Given the description of an element on the screen output the (x, y) to click on. 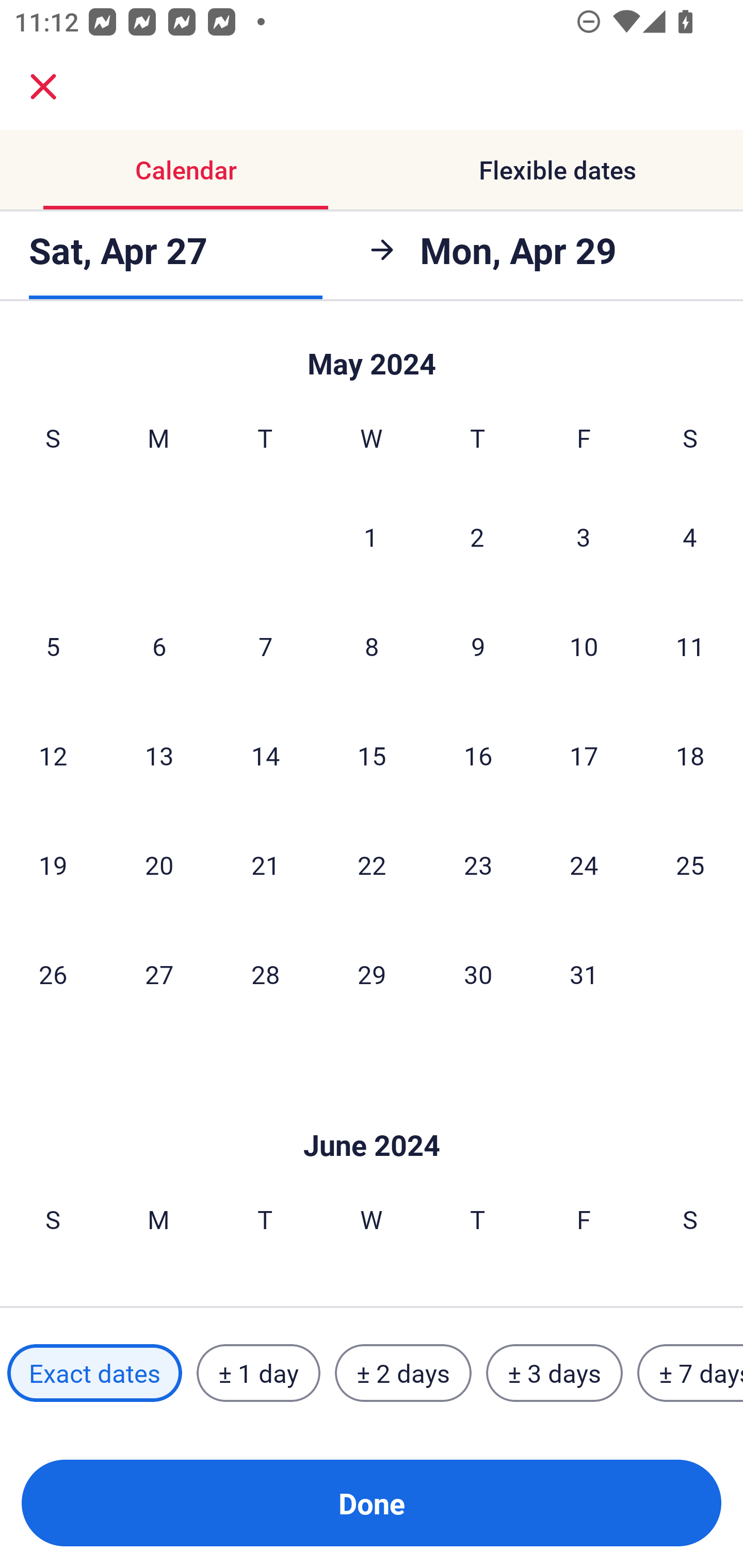
close. (43, 86)
Flexible dates (557, 170)
Skip to Done (371, 353)
1 Wednesday, May 1, 2024 (371, 536)
2 Thursday, May 2, 2024 (477, 536)
3 Friday, May 3, 2024 (583, 536)
4 Saturday, May 4, 2024 (689, 536)
5 Sunday, May 5, 2024 (53, 645)
6 Monday, May 6, 2024 (159, 645)
7 Tuesday, May 7, 2024 (265, 645)
8 Wednesday, May 8, 2024 (371, 645)
9 Thursday, May 9, 2024 (477, 645)
10 Friday, May 10, 2024 (584, 645)
11 Saturday, May 11, 2024 (690, 645)
12 Sunday, May 12, 2024 (53, 754)
13 Monday, May 13, 2024 (159, 754)
14 Tuesday, May 14, 2024 (265, 754)
15 Wednesday, May 15, 2024 (371, 754)
16 Thursday, May 16, 2024 (477, 754)
17 Friday, May 17, 2024 (584, 754)
18 Saturday, May 18, 2024 (690, 754)
19 Sunday, May 19, 2024 (53, 864)
20 Monday, May 20, 2024 (159, 864)
21 Tuesday, May 21, 2024 (265, 864)
22 Wednesday, May 22, 2024 (371, 864)
23 Thursday, May 23, 2024 (477, 864)
24 Friday, May 24, 2024 (584, 864)
25 Saturday, May 25, 2024 (690, 864)
26 Sunday, May 26, 2024 (53, 974)
27 Monday, May 27, 2024 (159, 974)
28 Tuesday, May 28, 2024 (265, 974)
29 Wednesday, May 29, 2024 (371, 974)
30 Thursday, May 30, 2024 (477, 974)
31 Friday, May 31, 2024 (584, 974)
Skip to Done (371, 1113)
Exact dates (94, 1372)
± 1 day (258, 1372)
± 2 days (403, 1372)
± 3 days (553, 1372)
± 7 days (690, 1372)
Done (371, 1502)
